Given the description of an element on the screen output the (x, y) to click on. 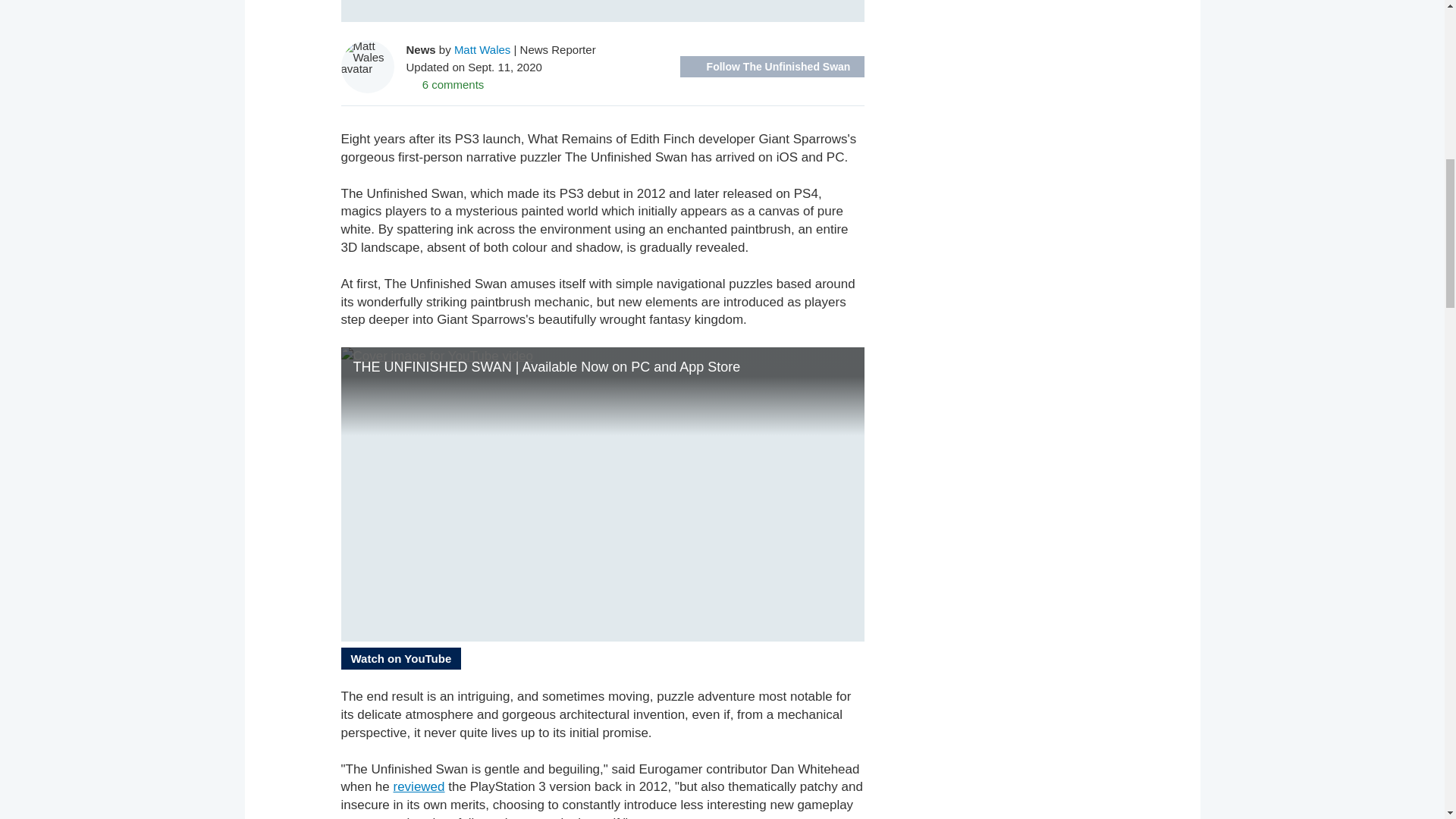
6 comments (445, 83)
Follow The Unfinished Swan (771, 66)
Matt Wales (482, 48)
reviewed (418, 786)
Watch on YouTube (400, 658)
